Given the description of an element on the screen output the (x, y) to click on. 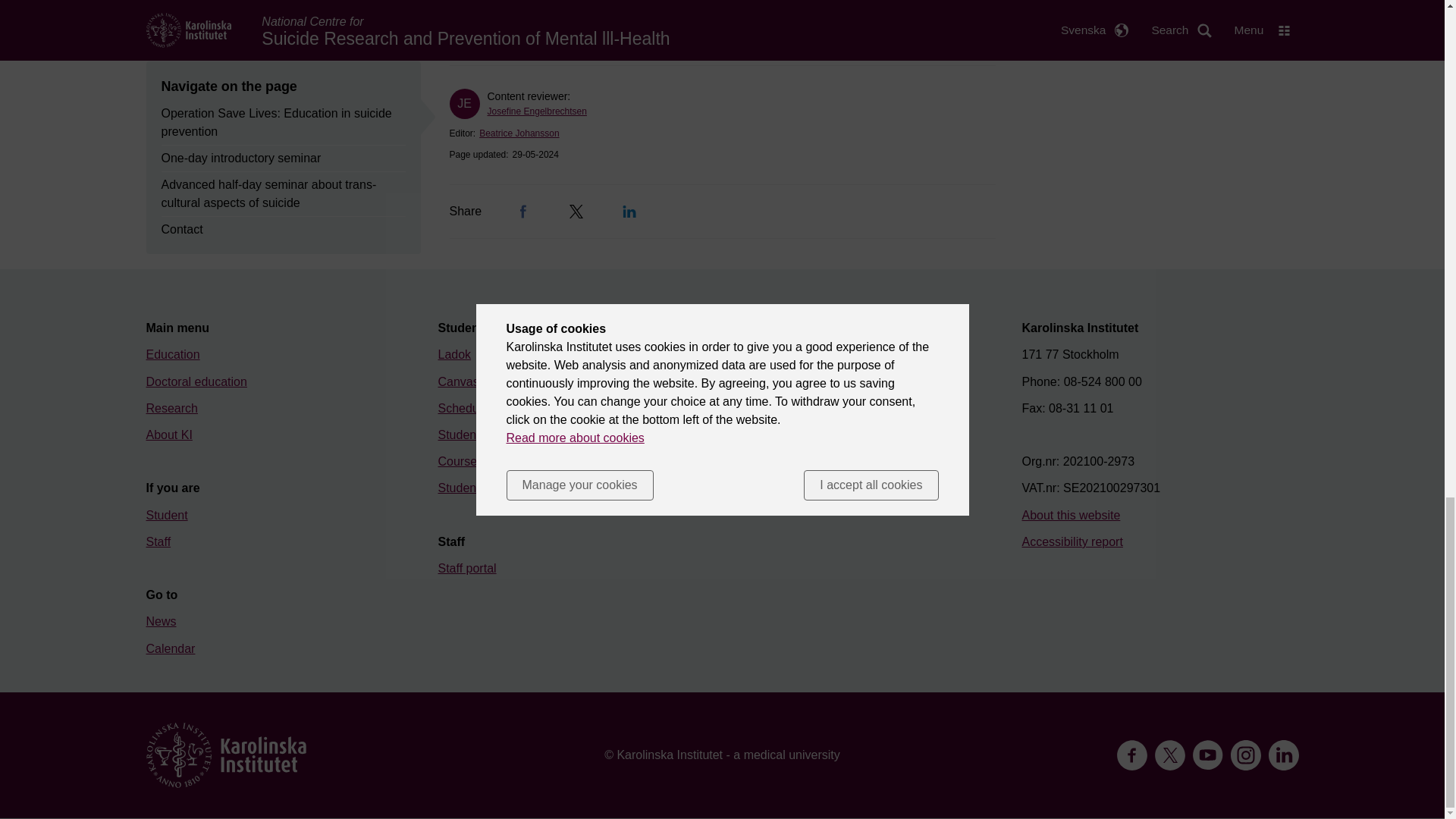
Canvas (458, 381)
Twitter (576, 211)
News (160, 621)
Education (172, 354)
Calendar (170, 648)
Research (170, 408)
Schedule (463, 408)
Ladok (454, 354)
About KI (168, 434)
Staff (157, 541)
Doctoral education (195, 381)
Josefine Engelbrechtsen (536, 111)
